Given the description of an element on the screen output the (x, y) to click on. 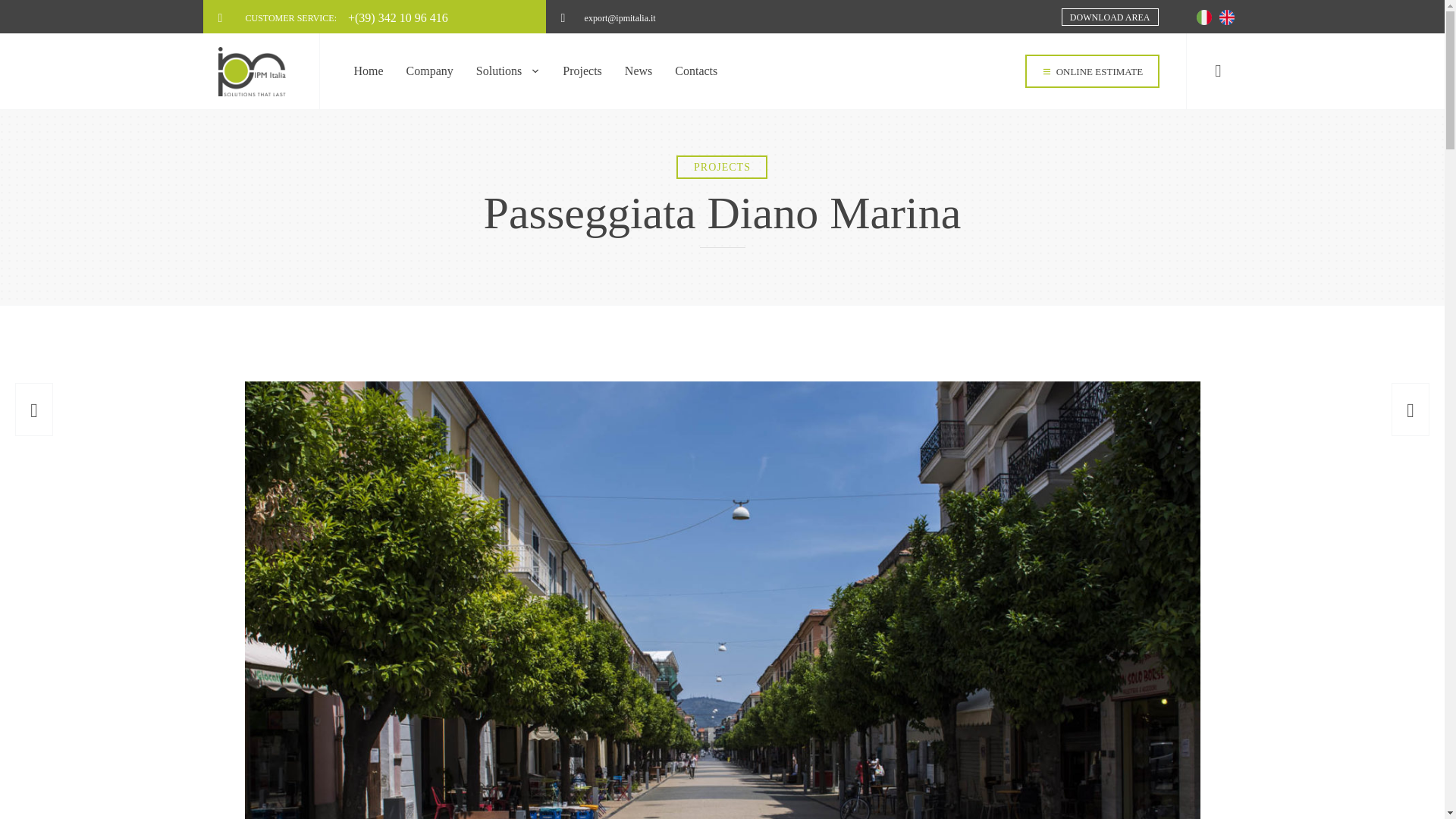
Solutions (507, 70)
DOWNLOAD AREA (1109, 16)
ONLINE ESTIMATE (1091, 70)
Italiano (1203, 17)
English (1227, 17)
IPM Italia Pavimenti e Rivestimenti in Resina (257, 71)
Company (429, 70)
